Given the description of an element on the screen output the (x, y) to click on. 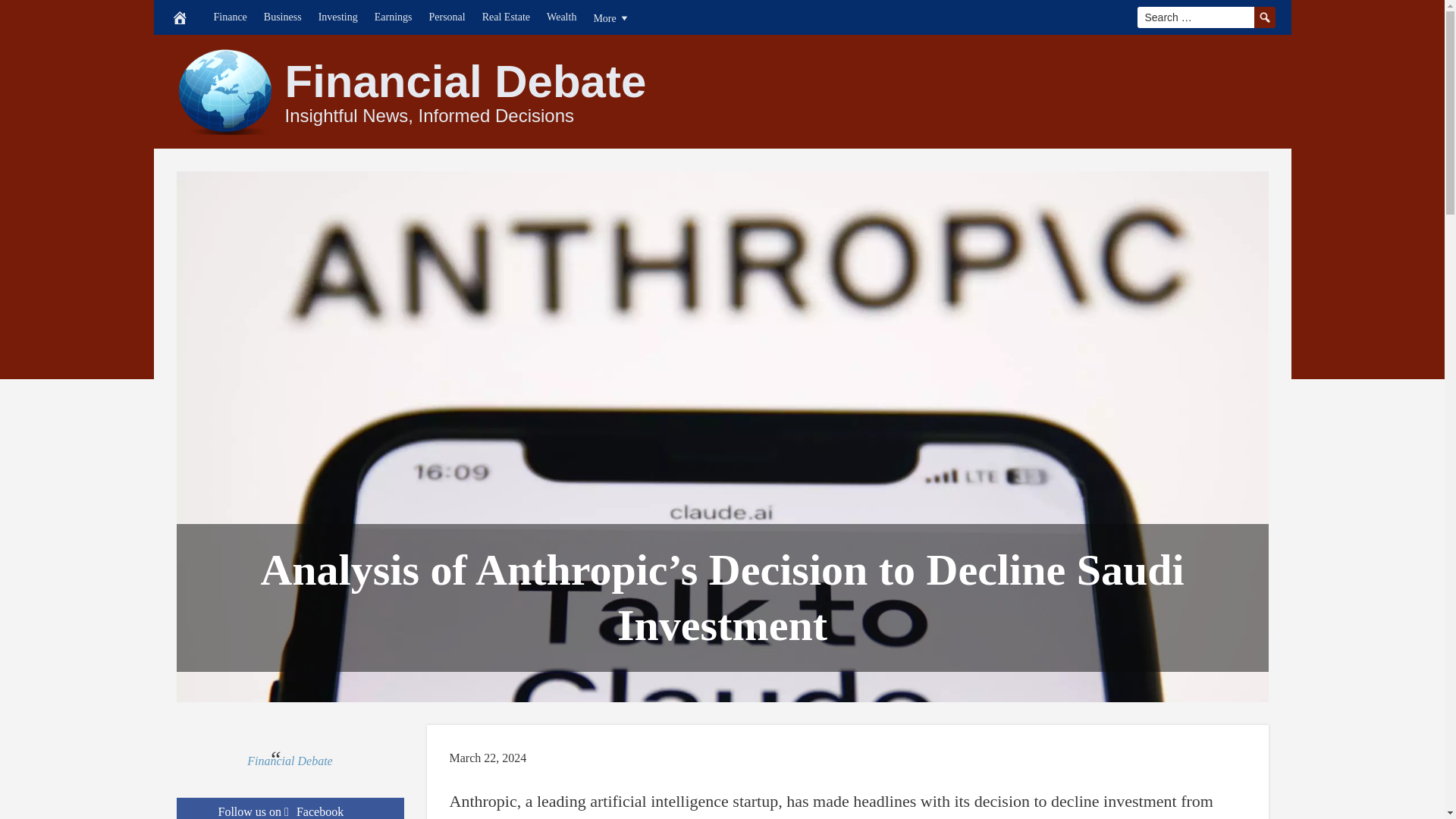
Wealth (561, 17)
Real Estate (506, 17)
Personal (446, 17)
Business (283, 17)
Earnings (393, 17)
Financial Debate (465, 81)
Finance (229, 17)
More (612, 17)
Investing (338, 17)
